Given the description of an element on the screen output the (x, y) to click on. 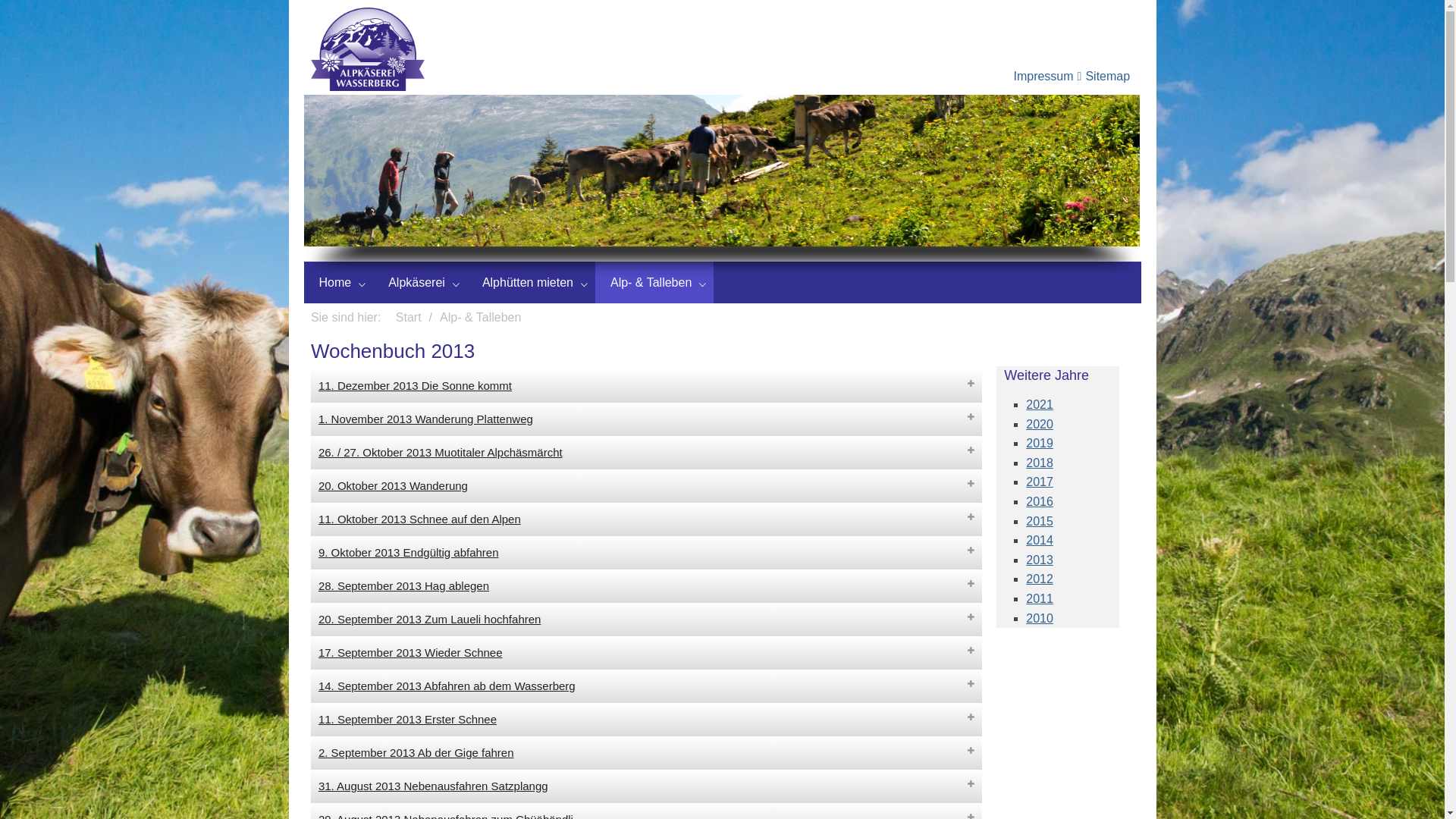
20. Oktober 2013 Wanderung Element type: text (646, 485)
31. August 2013 Nebenausfahren Satzplangg Element type: text (646, 786)
Impressum Element type: text (1045, 75)
2. September 2013 Ab der Gige fahren Element type: text (646, 752)
14. September 2013 Abfahren ab dem Wasserberg Element type: text (646, 685)
11. Oktober 2013 Schnee auf den Alpen Element type: text (646, 519)
Alp- & Talleben Element type: text (479, 316)
Home Element type: text (338, 282)
2012 Element type: text (1039, 578)
2014 Element type: text (1039, 539)
2019 Element type: text (1039, 442)
Start Element type: text (408, 316)
17. September 2013 Wieder Schnee Element type: text (646, 652)
Sitemap Element type: text (1107, 75)
11. September 2013 Erster Schnee Element type: text (646, 719)
2015 Element type: text (1039, 520)
2021 Element type: text (1039, 404)
2011 Element type: text (1039, 598)
2010 Element type: text (1039, 617)
2013 Element type: text (1039, 559)
28. September 2013 Hag ablegen Element type: text (646, 585)
Alp- & Talleben Element type: text (654, 282)
2020 Element type: text (1039, 423)
2017 Element type: text (1039, 481)
2016 Element type: text (1039, 501)
11. Dezember 2013 Die Sonne kommt Element type: text (646, 385)
2018 Element type: text (1039, 462)
20. September 2013 Zum Laueli hochfahren Element type: text (646, 619)
1. November 2013 Wanderung Plattenweg Element type: text (646, 419)
